Given the description of an element on the screen output the (x, y) to click on. 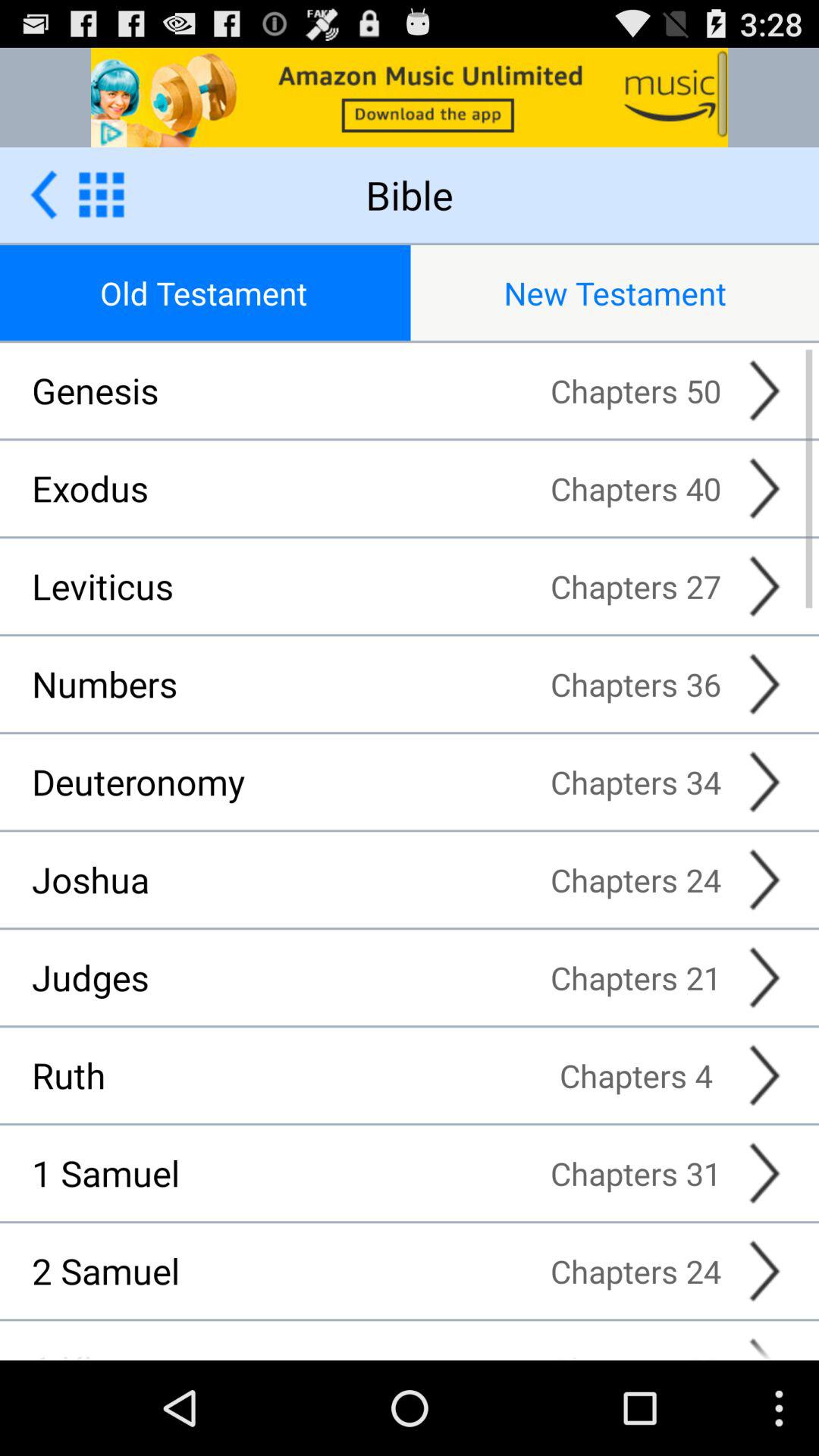
go back (43, 194)
